Given the description of an element on the screen output the (x, y) to click on. 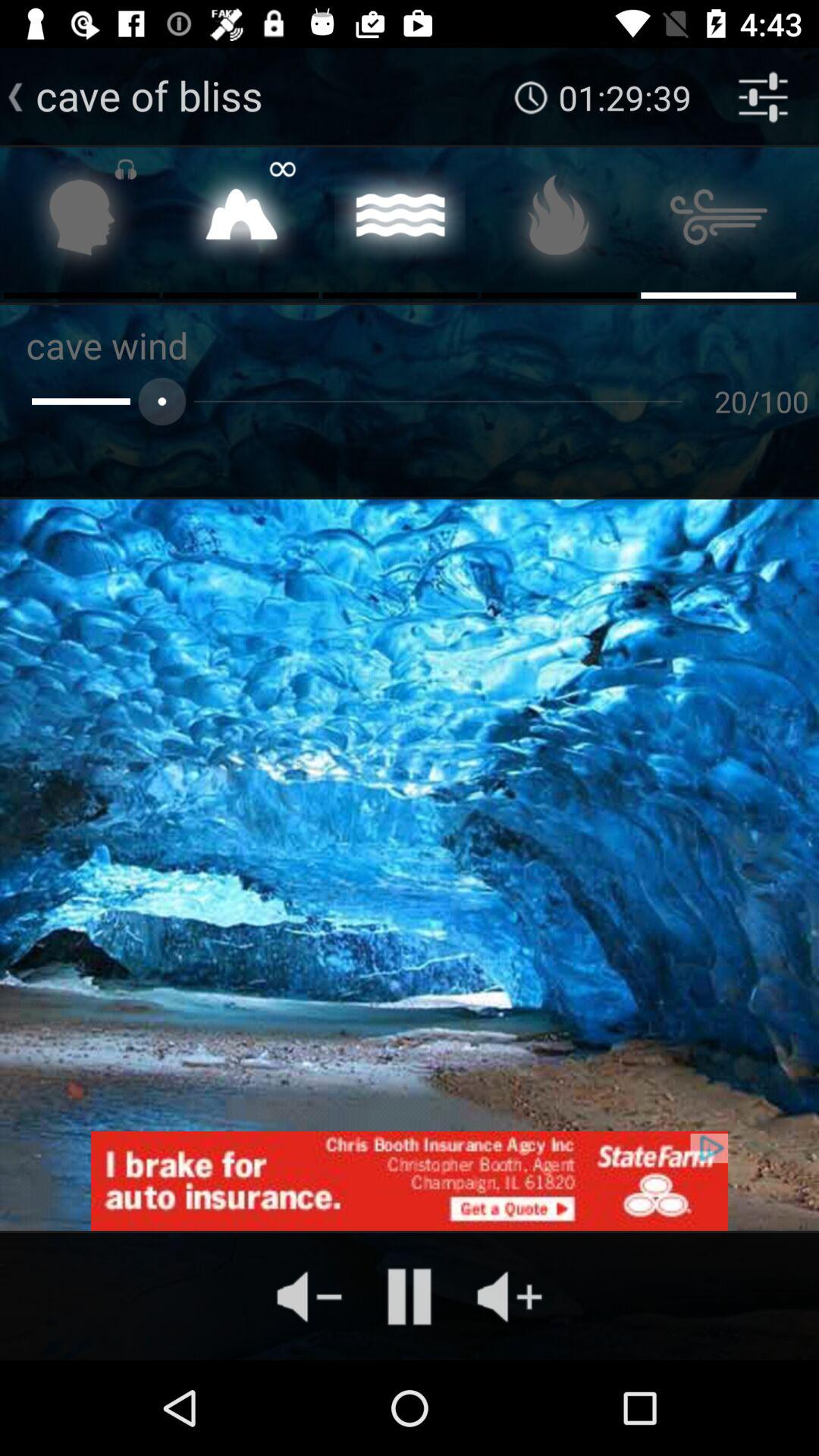
toggle music listening to headphones (81, 221)
